Given the description of an element on the screen output the (x, y) to click on. 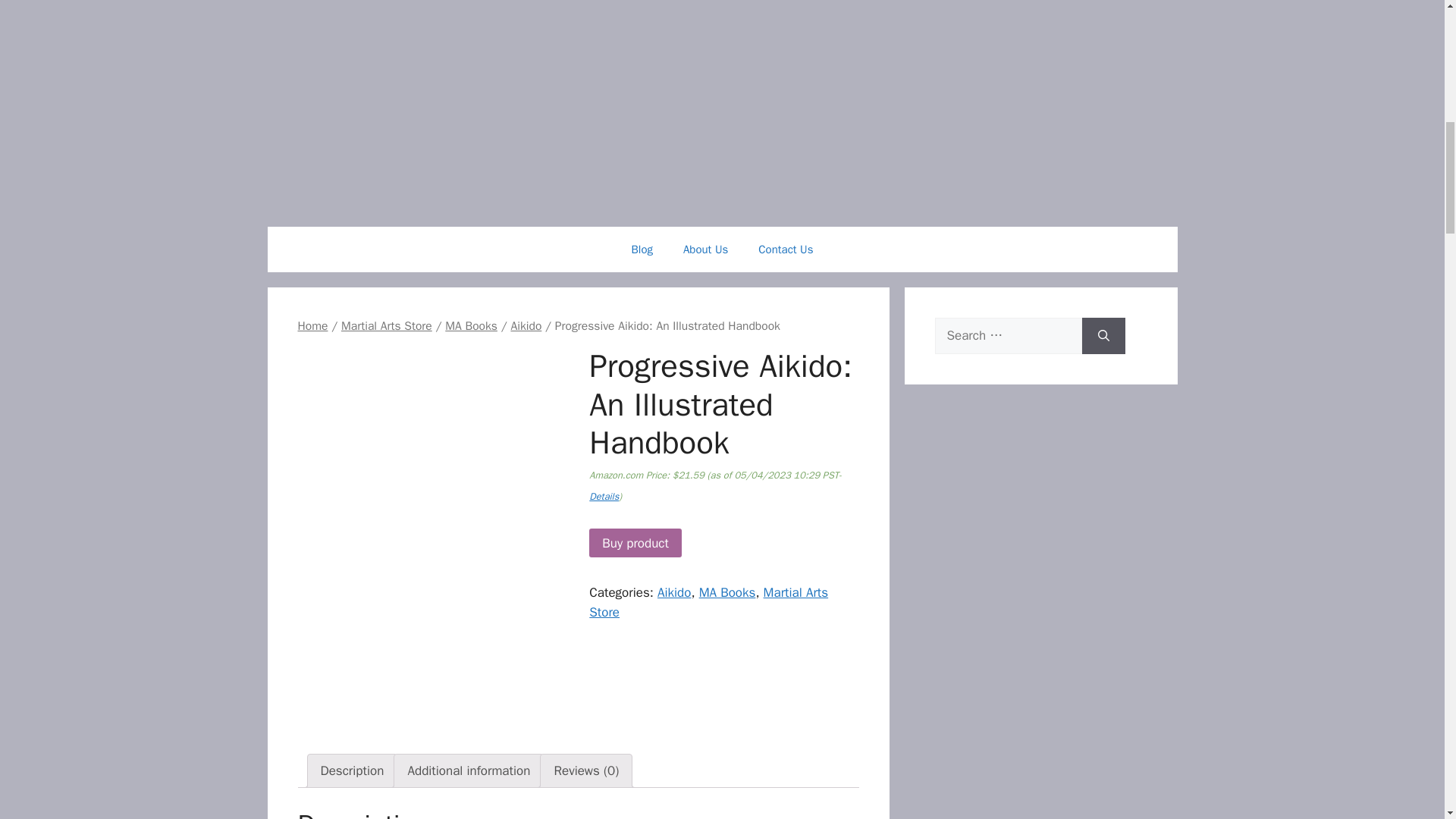
MA Books (726, 592)
Search for: (1007, 335)
Home (312, 325)
Martial Arts Store (708, 601)
Aikido (674, 592)
Aikido (526, 325)
Martial Arts Store (386, 325)
Blog (640, 248)
Details (603, 495)
